Given the description of an element on the screen output the (x, y) to click on. 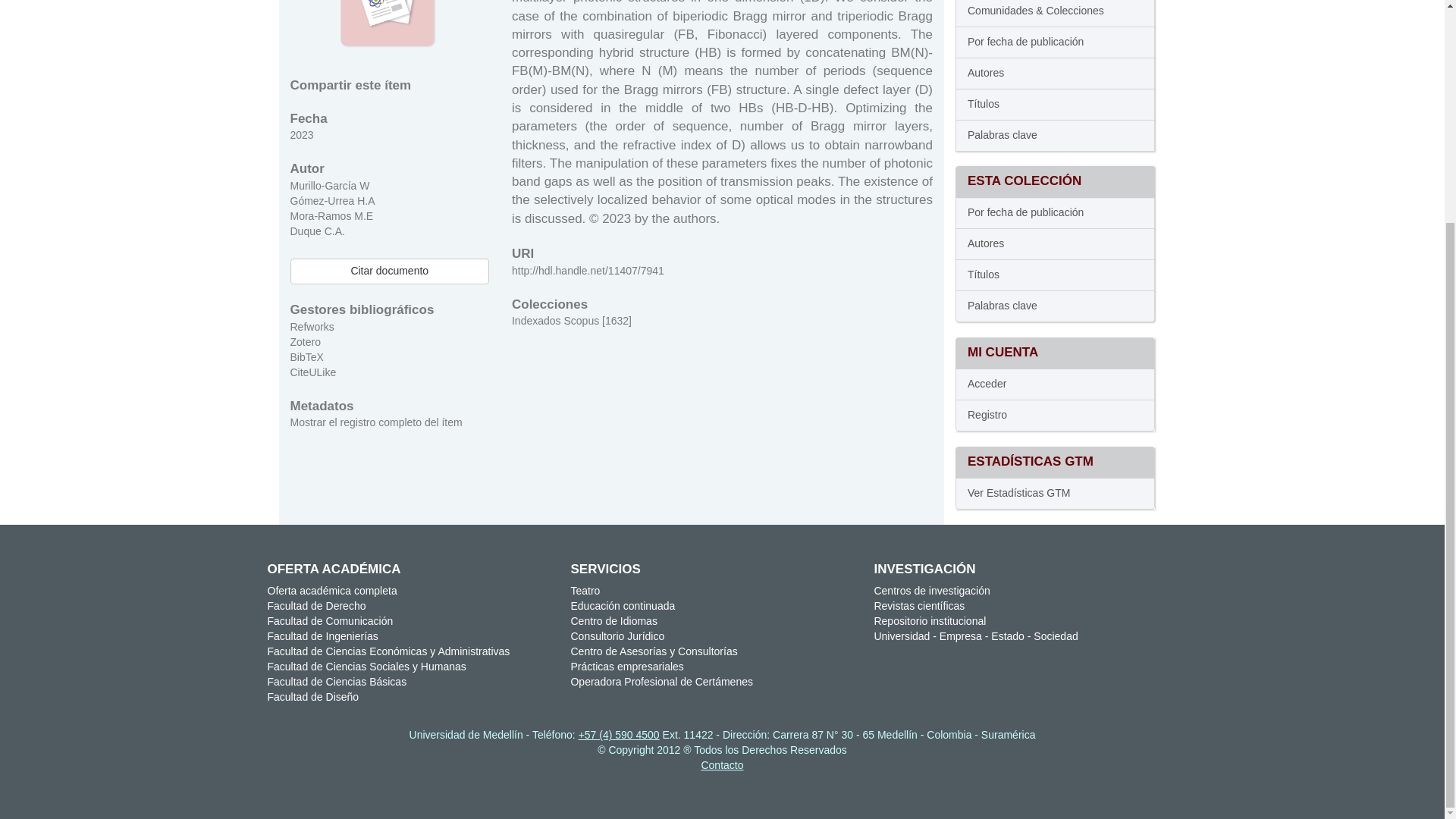
Citar documento (388, 271)
